Given the description of an element on the screen output the (x, y) to click on. 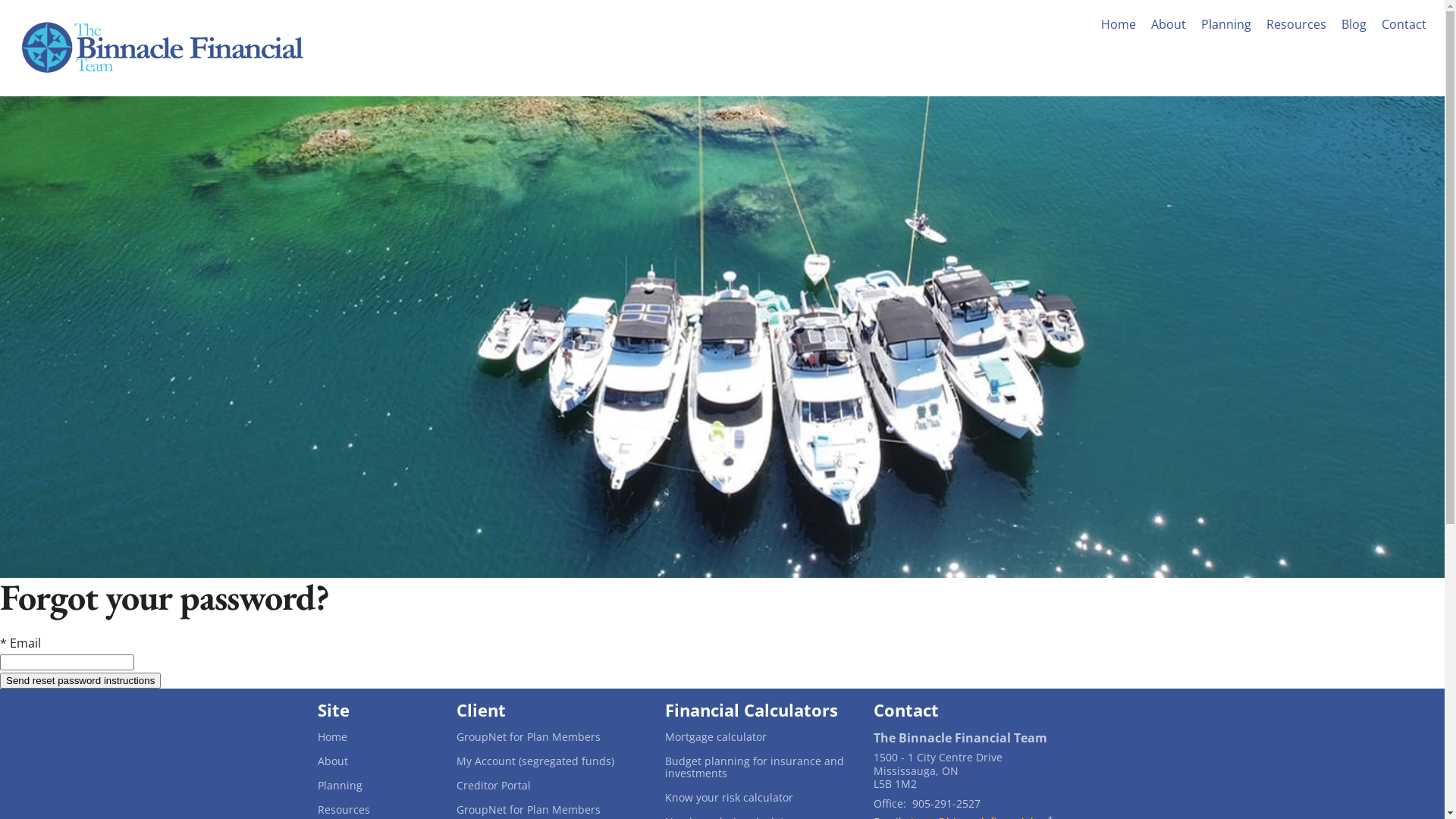
Creditor Portal
 - Opens in a new window Element type: text (548, 785)
About Element type: text (1168, 24)
Home Element type: text (373, 737)
Planning Element type: text (373, 785)
Send reset password instructions Element type: text (80, 680)
My Account (segregated funds)
 - Opens in a new window Element type: text (548, 761)
Resources Element type: text (1296, 24)
Planning Element type: text (1226, 24)
Mortgage calculator
 - Opens in a new window Element type: text (757, 737)
About Element type: text (373, 761)
Contact Element type: text (1403, 24)
Resources Element type: text (373, 809)
GroupNet for Plan Members
 - Opens in a new window Element type: text (548, 809)
GroupNet for Plan Members
 - Opens in a new window Element type: text (548, 737)
Blog Element type: text (1353, 24)
Home Element type: text (1118, 24)
Know your risk calculator
 - Opens in a new window Element type: text (757, 797)
